Given the description of an element on the screen output the (x, y) to click on. 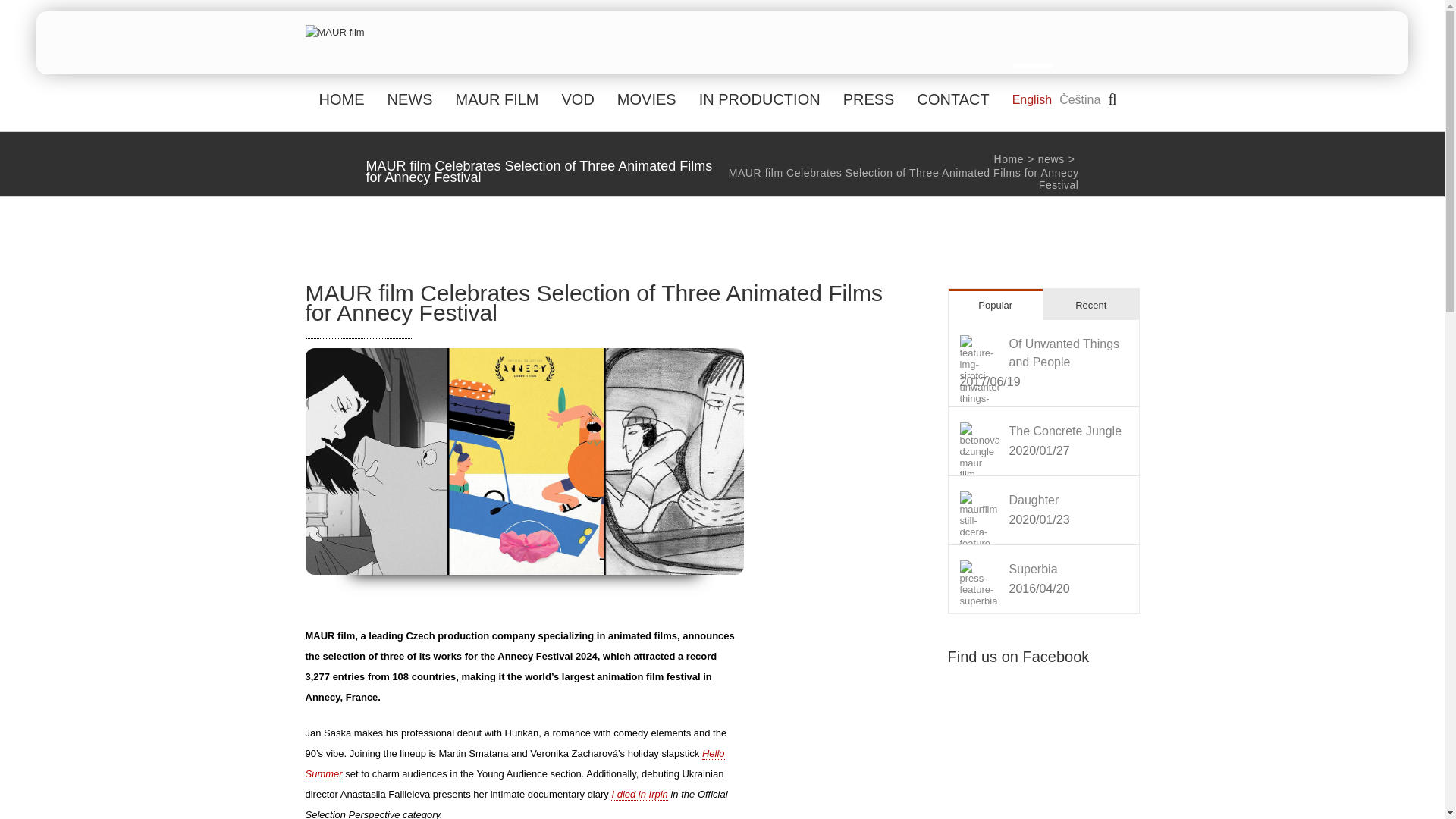
news (1051, 159)
IN PRODUCTION (759, 97)
Hello Summer (513, 763)
Popular (994, 304)
The Concrete Jungle (1065, 431)
Home (1007, 159)
I died in Irpin (638, 794)
Recent (1090, 304)
Contact (952, 97)
Of Unwanted Things and People (1064, 352)
